Given the description of an element on the screen output the (x, y) to click on. 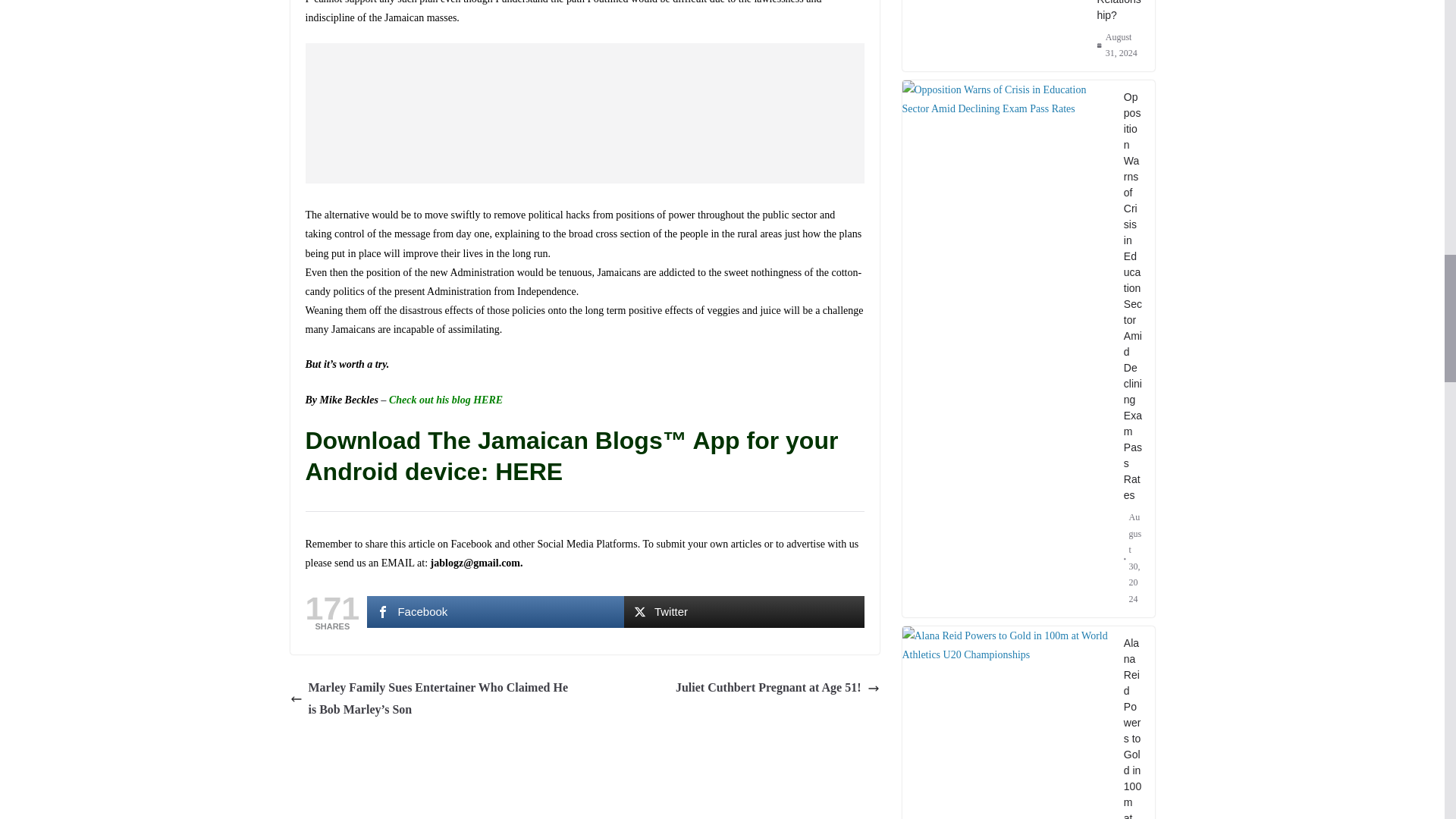
Check out his blog HERE (445, 399)
Facebook (494, 612)
Juliet Cuthbert Pregnant at Age 51! (777, 688)
Twitter (744, 612)
